Given the description of an element on the screen output the (x, y) to click on. 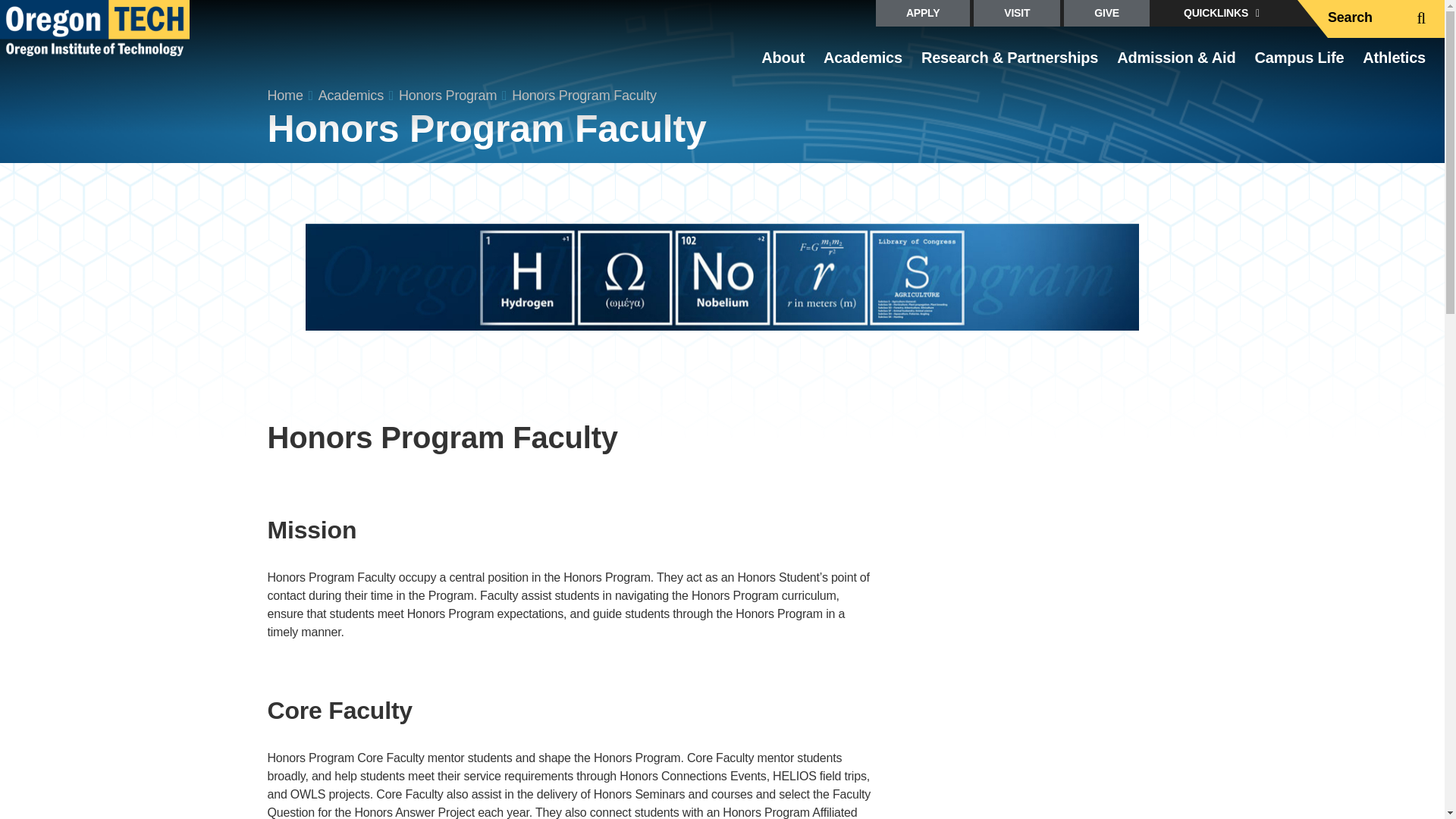
Academics (863, 64)
VISIT (1016, 13)
GIVE (1107, 13)
About (783, 64)
APPLY (922, 13)
